Given the description of an element on the screen output the (x, y) to click on. 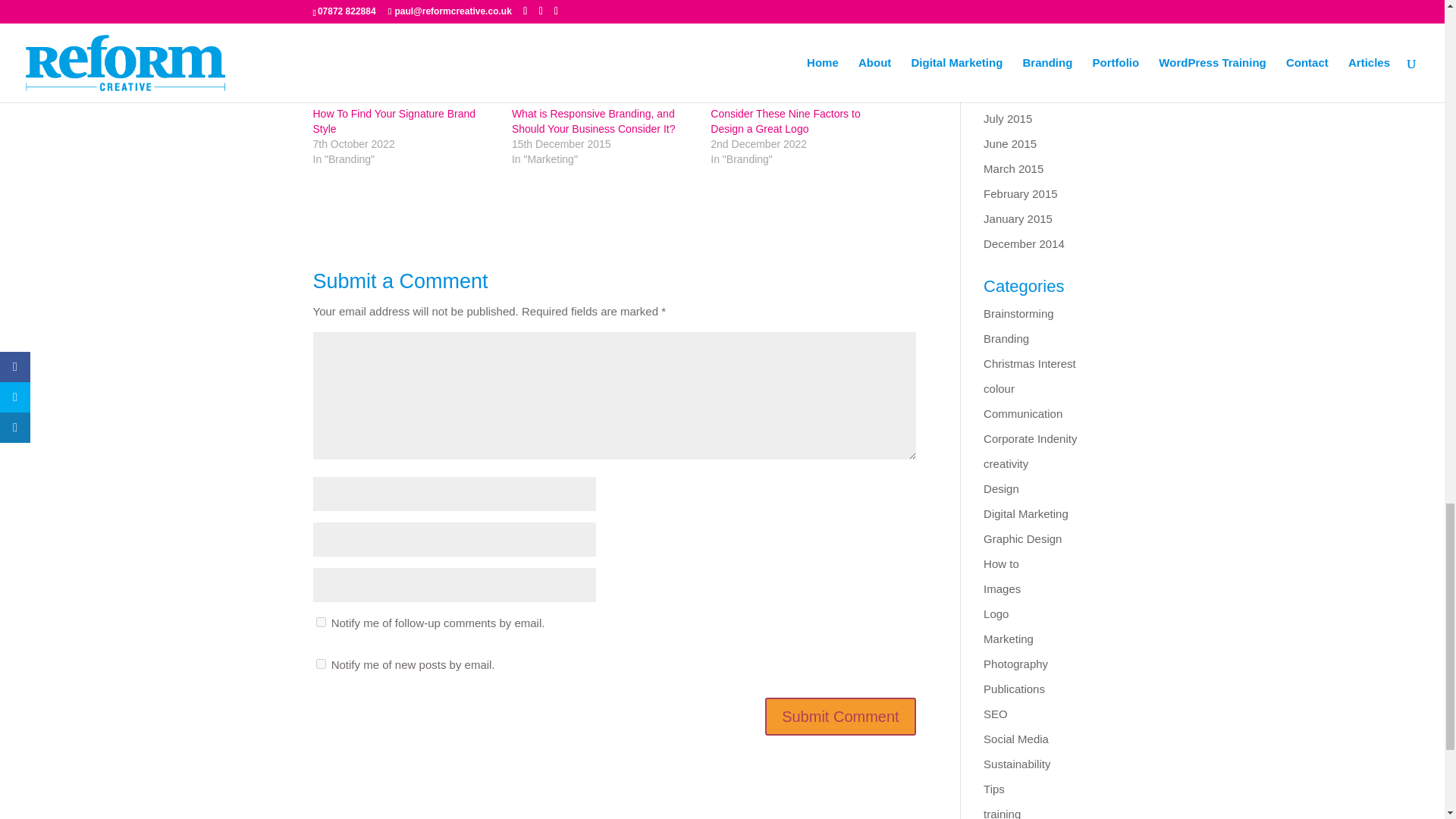
Submit Comment (840, 716)
Facebook (427, 25)
LinkedIn (347, 25)
Consider These Nine Factors to Design a Great Logo (785, 121)
Click to share on LinkedIn (347, 25)
Submit Comment (840, 716)
Click to share on Twitter (502, 25)
subscribe (319, 622)
Click to email a link to a friend (569, 25)
How To Find Your Signature Brand Style (394, 121)
Email (569, 25)
How To Find Your Signature Brand Style (394, 121)
Consider These Nine Factors to Design a Great Logo (785, 121)
